Given the description of an element on the screen output the (x, y) to click on. 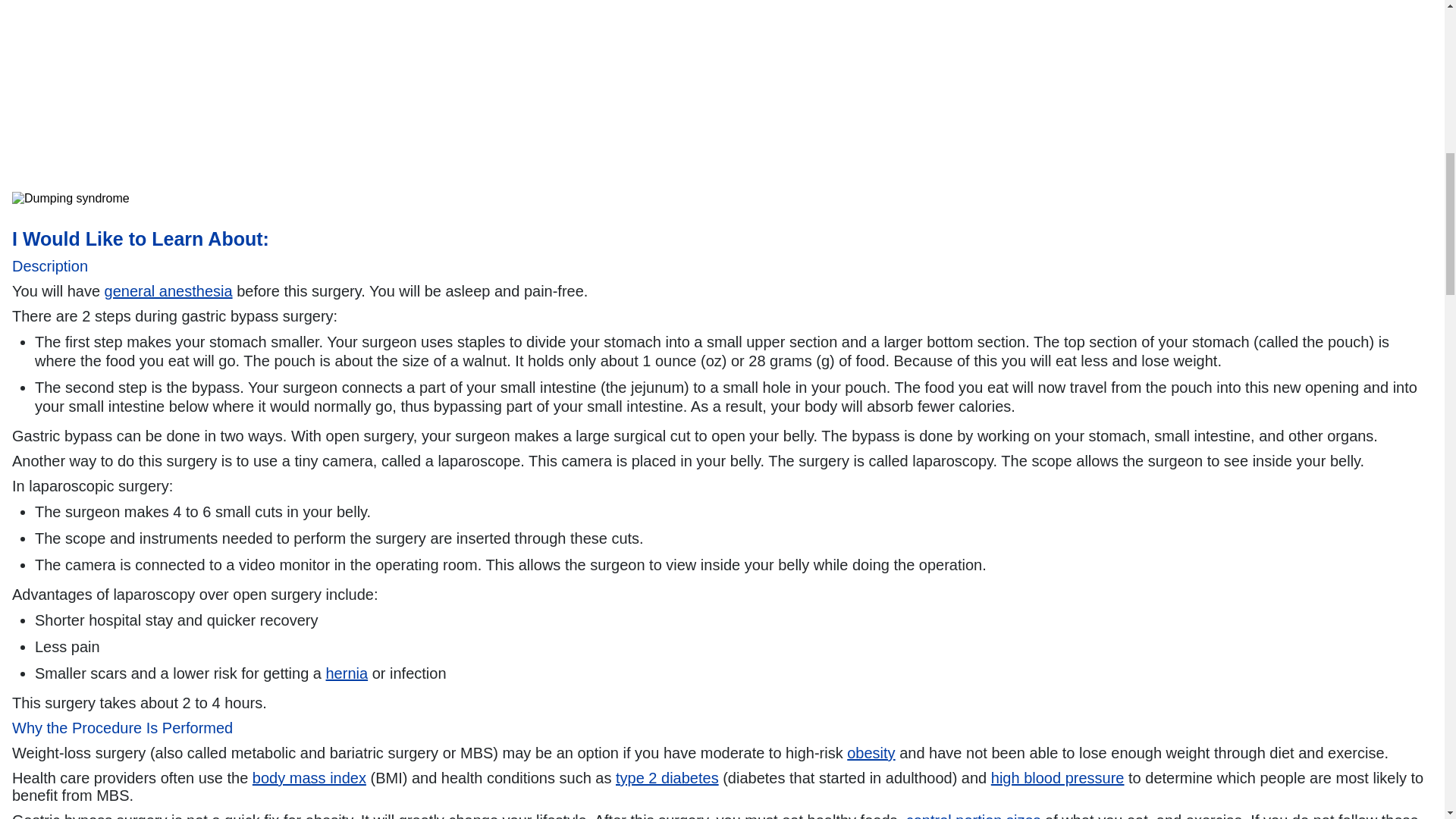
general anesthesia (168, 290)
type 2 diabetes (667, 777)
high blood pressure (1057, 777)
control portion sizes (973, 815)
body mass index (308, 777)
hernia (347, 673)
obesity (871, 752)
